Given the description of an element on the screen output the (x, y) to click on. 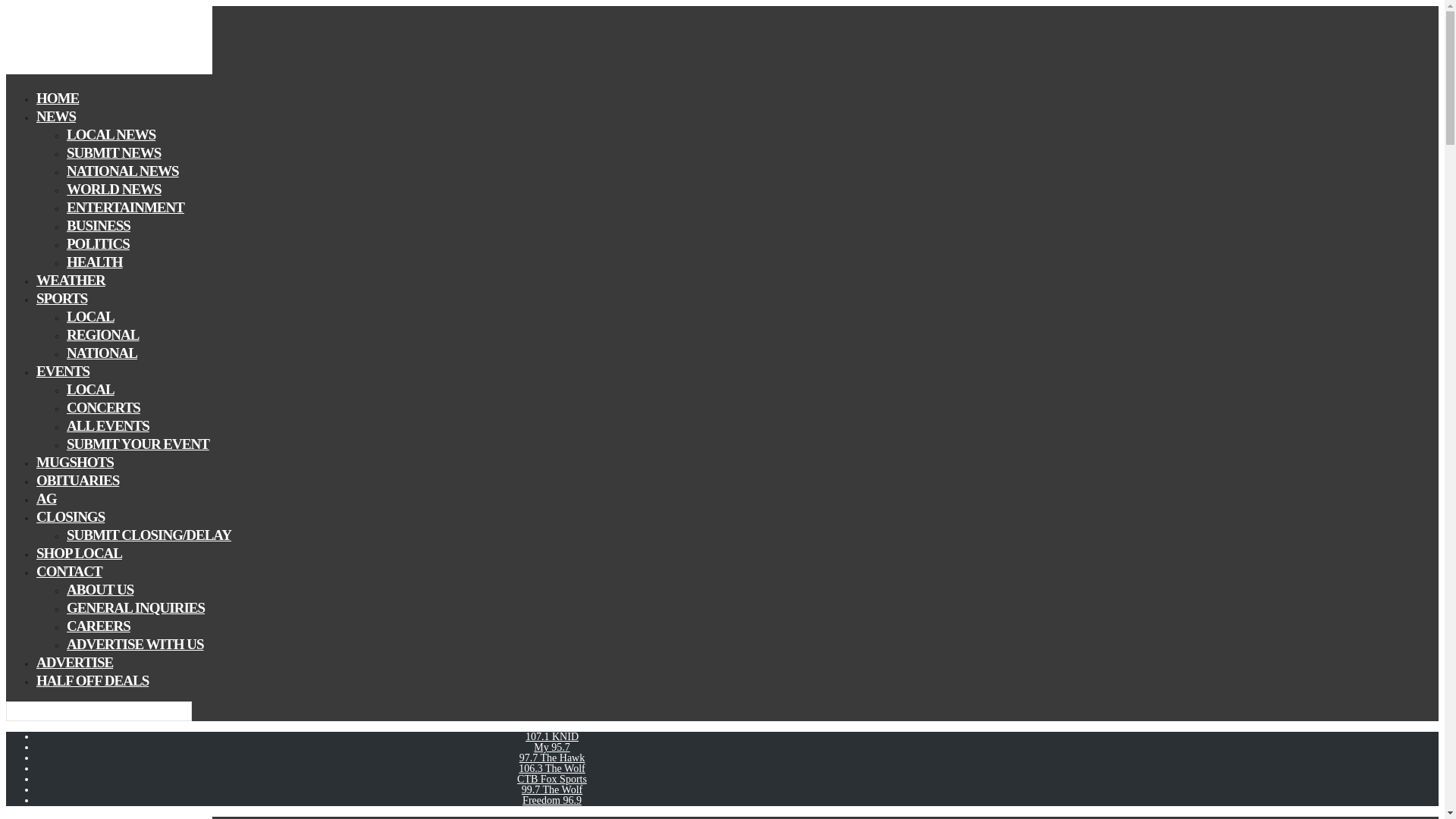
SUBMIT YOUR EVENT (137, 444)
CONCERTS (102, 407)
ALL EVENTS (107, 425)
BUSINESS (98, 225)
CLOSINGS (70, 516)
SPORTS (61, 298)
NATIONAL NEWS (122, 170)
My 95.7 (551, 747)
CAREERS (98, 626)
NATIONAL (101, 352)
ENTERTAINMENT (125, 207)
CONTACT (68, 571)
107.1 KNID (551, 736)
OBITUARIES (77, 480)
SUBMIT NEWS (113, 152)
